Given the description of an element on the screen output the (x, y) to click on. 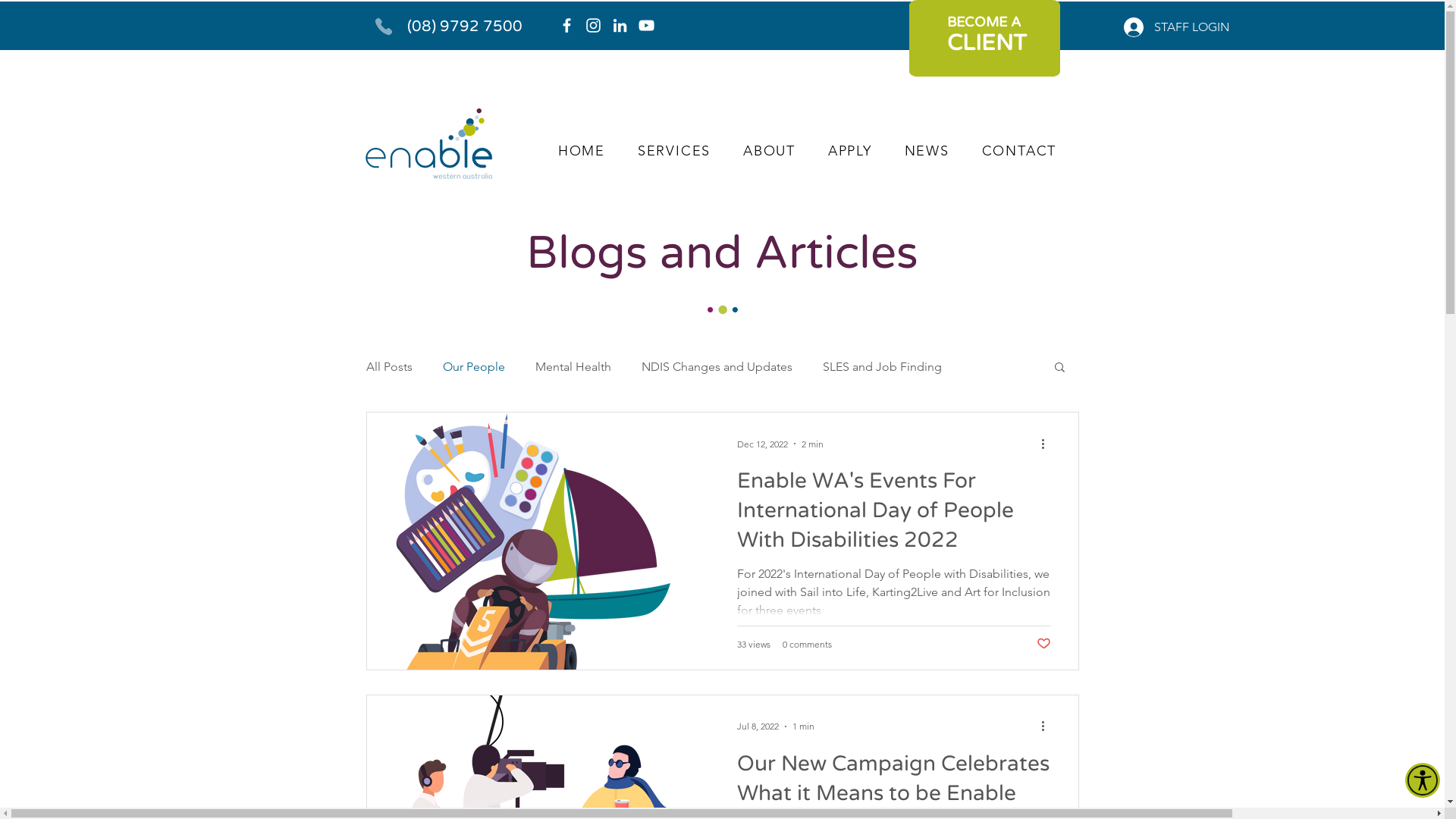
0 comments Element type: text (806, 643)
NEWS Element type: text (926, 151)
Mental Health Element type: text (573, 366)
CONTACT Element type: text (1018, 151)
(08) 9792 7500 Element type: text (463, 26)
SLES and Job Finding Element type: text (881, 366)
SERVICES Element type: text (673, 151)
ABOUT Element type: text (769, 151)
Post not marked as liked Element type: text (1042, 644)
STAFF LOGIN Element type: text (1176, 26)
APPLY Element type: text (849, 151)
HOME Element type: text (581, 151)
All Posts Element type: text (388, 366)
NDIS Changes and Updates Element type: text (716, 366)
Our People Element type: text (473, 366)
BECOME A
 CLIENT Element type: text (983, 33)
TWIPLA (Visitor Analytics) Element type: hover (1442, 4)
